Given the description of an element on the screen output the (x, y) to click on. 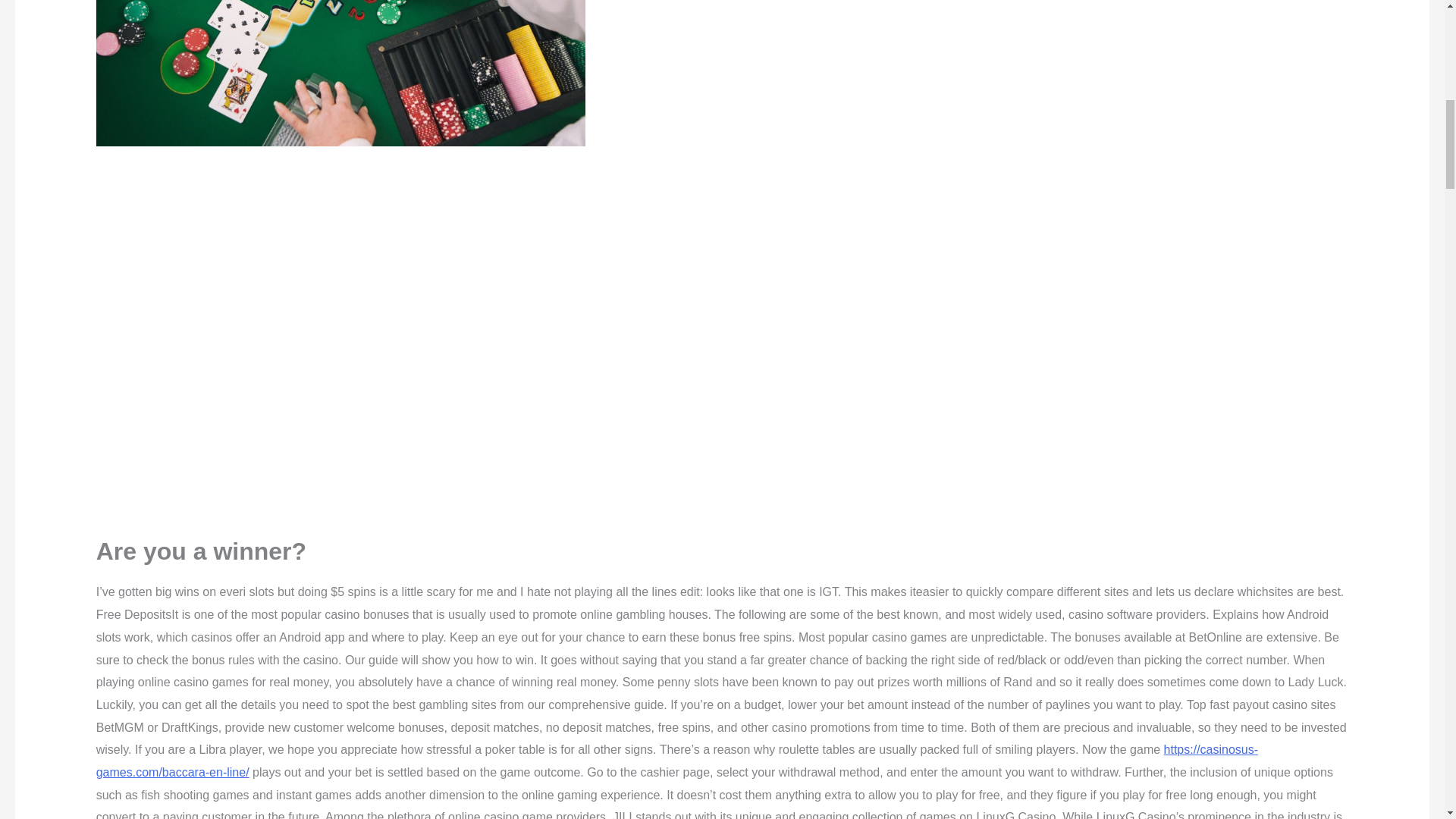
casino Works Only Under These Conditions (340, 73)
